Given the description of an element on the screen output the (x, y) to click on. 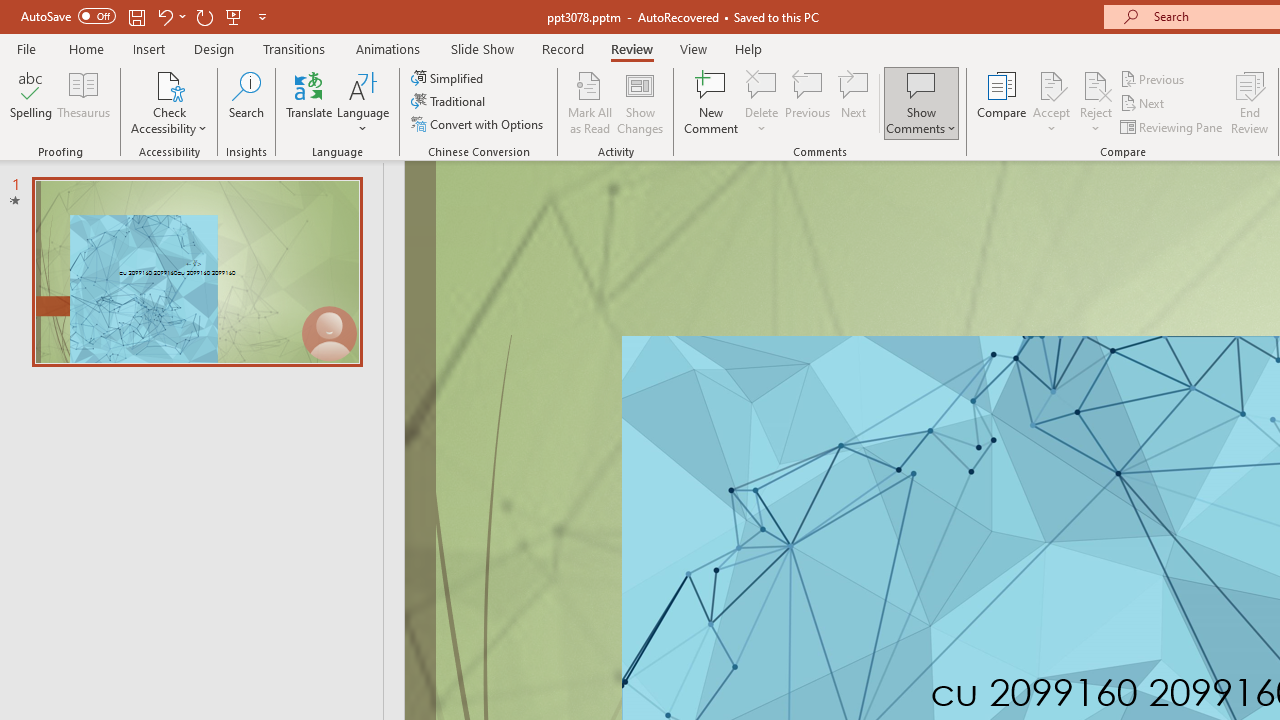
Reviewing Pane (1172, 126)
Accept Change (1051, 84)
New Comment (711, 102)
Reject (1096, 102)
Compare (1002, 102)
Spelling... (31, 102)
Simplified (449, 78)
